Given the description of an element on the screen output the (x, y) to click on. 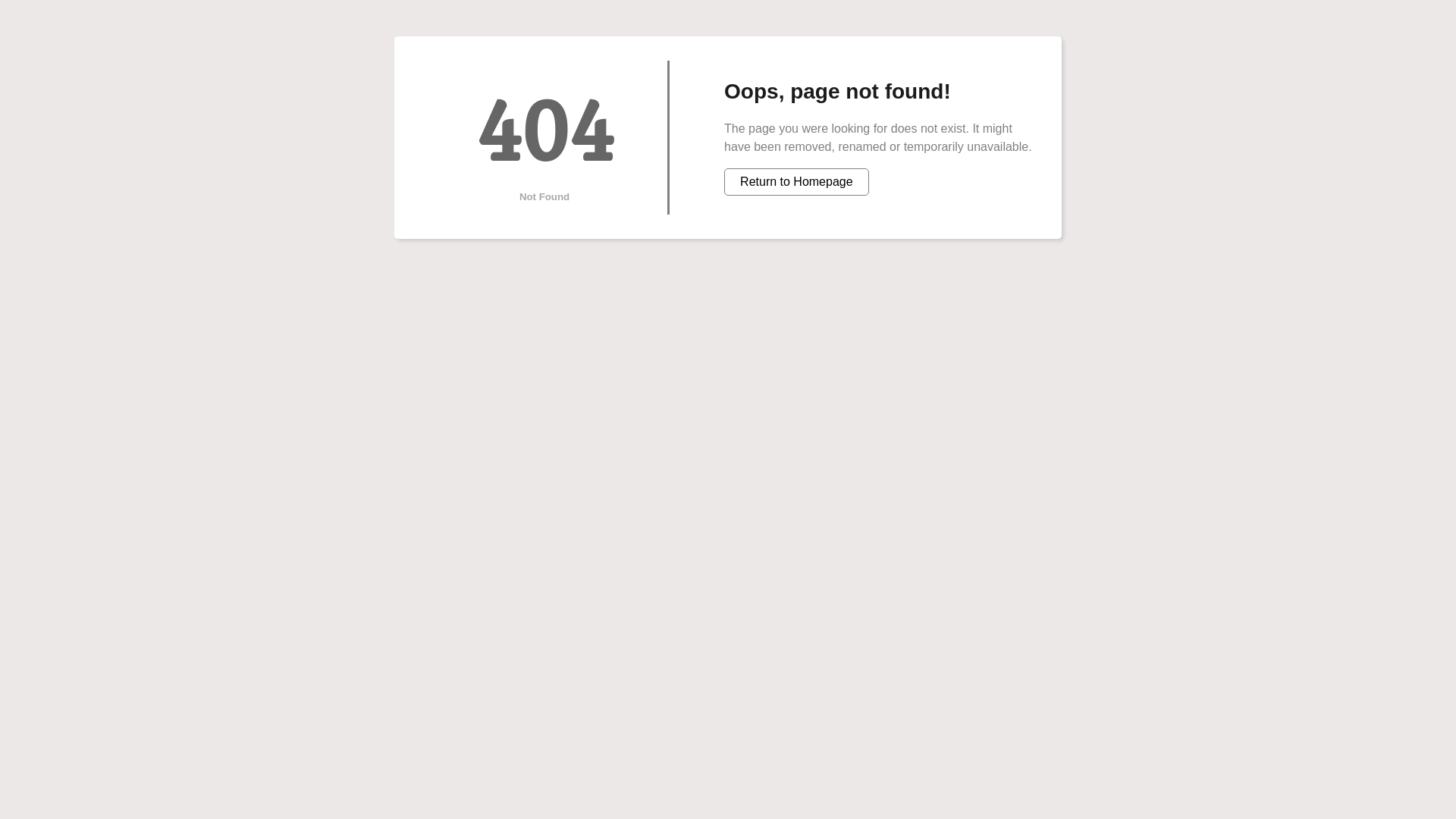
Return to Homepage Element type: text (796, 181)
